Given the description of an element on the screen output the (x, y) to click on. 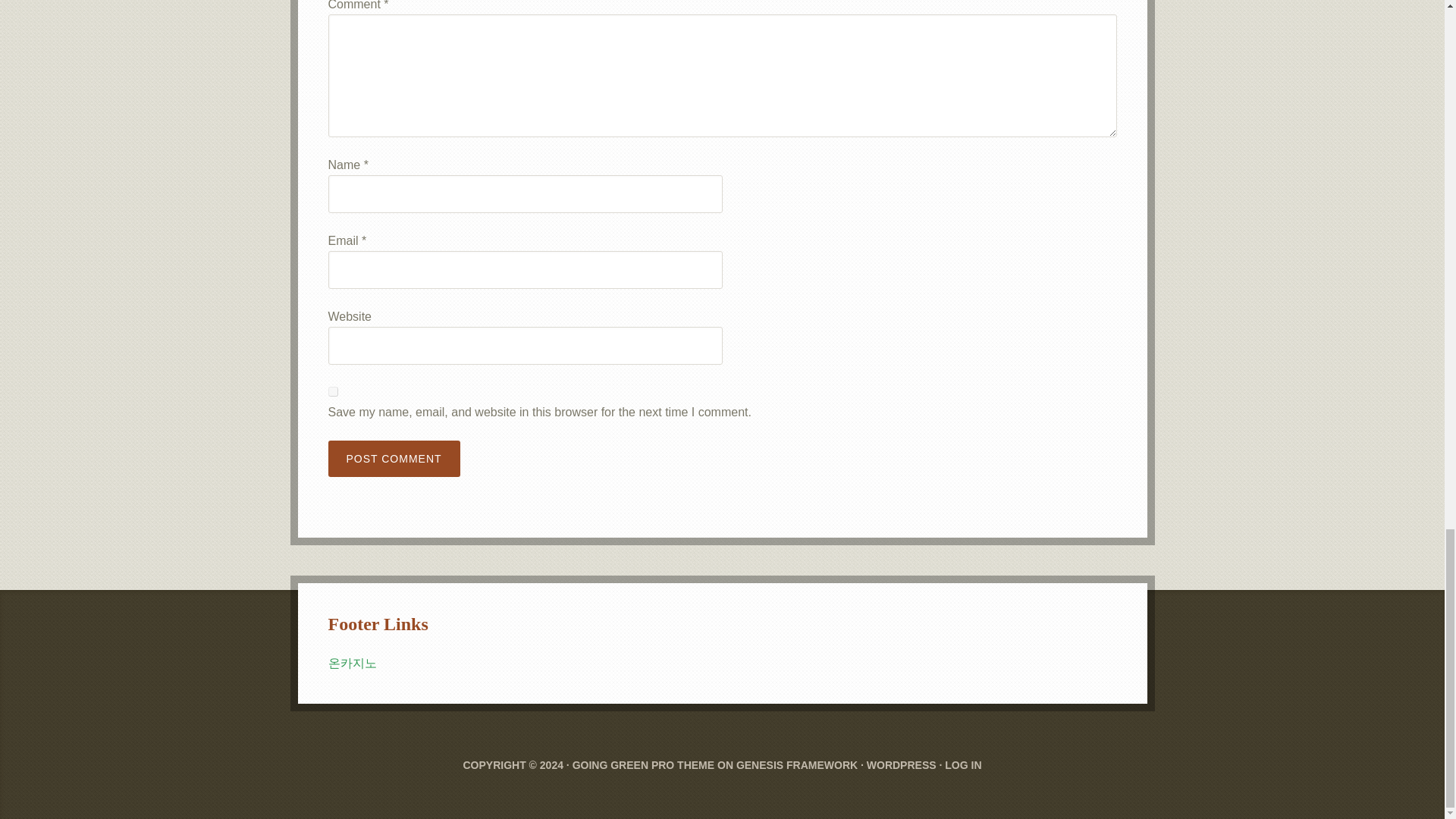
yes (332, 391)
WORDPRESS (901, 765)
Post Comment (393, 458)
LOG IN (962, 765)
GENESIS FRAMEWORK (796, 765)
GOING GREEN PRO THEME (643, 765)
Post Comment (393, 458)
